Given the description of an element on the screen output the (x, y) to click on. 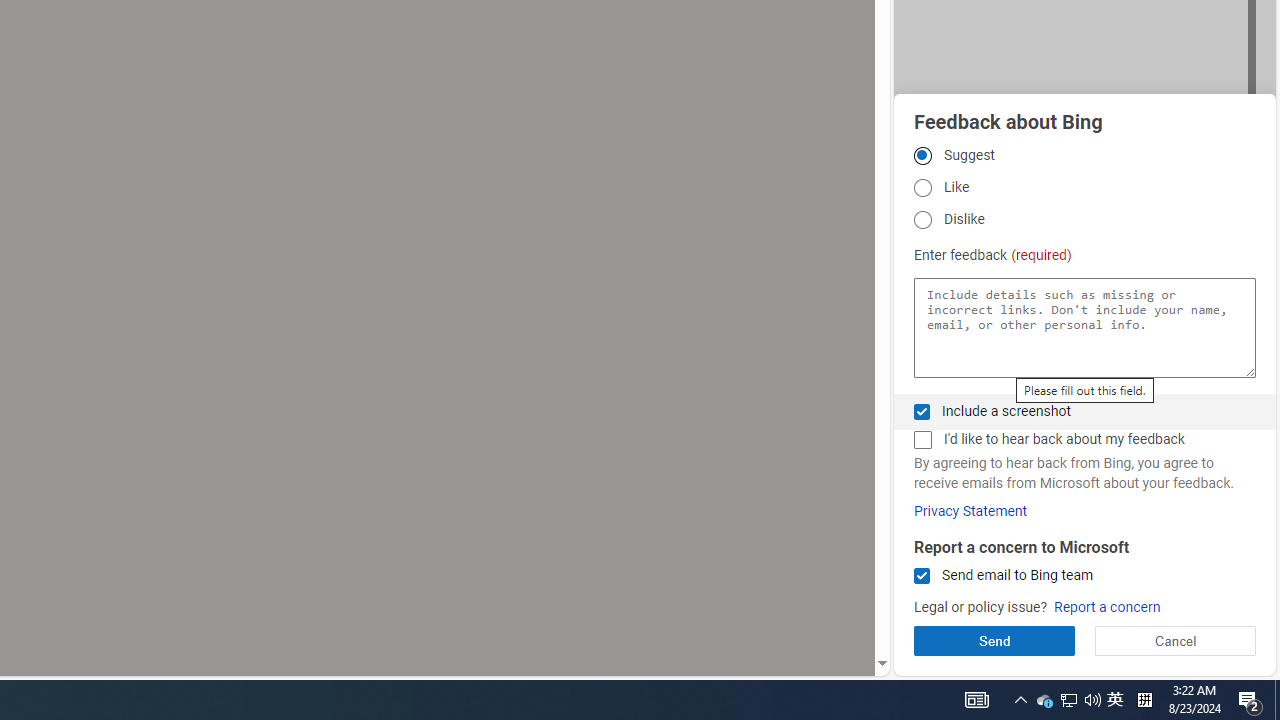
Dislike (922, 219)
Like (922, 188)
Cancel (1174, 640)
Send (994, 640)
Privacy Statement (970, 511)
Suggest (922, 155)
Send email to Bing team (921, 575)
I'd like to hear back about my feedback (922, 440)
Report a concern (1106, 607)
Include a screenshot (921, 411)
